Given the description of an element on the screen output the (x, y) to click on. 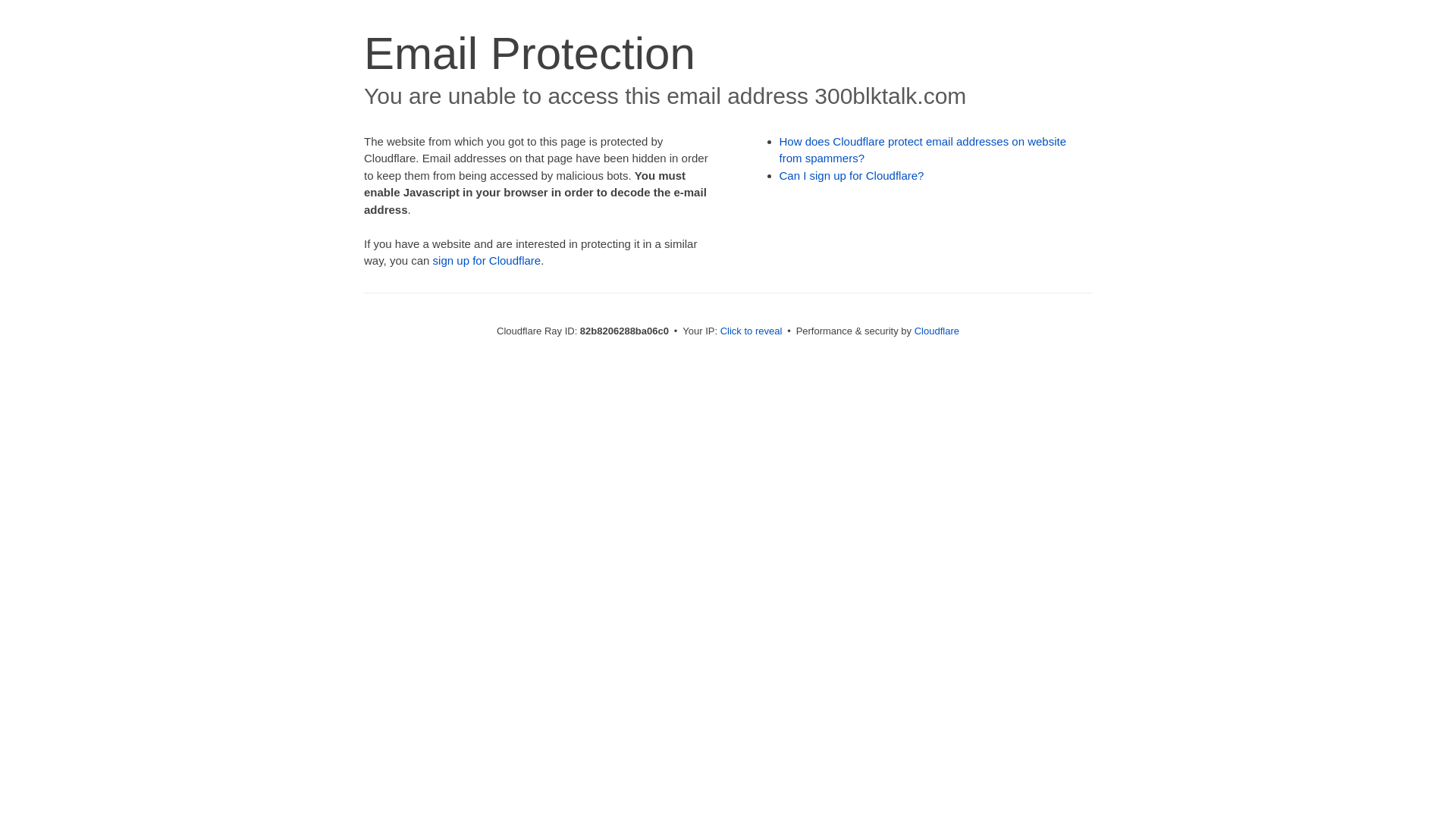
Can I sign up for Cloudflare? Element type: text (851, 175)
sign up for Cloudflare Element type: text (487, 260)
Cloudflare Element type: text (936, 330)
Click to reveal Element type: text (751, 330)
